Given the description of an element on the screen output the (x, y) to click on. 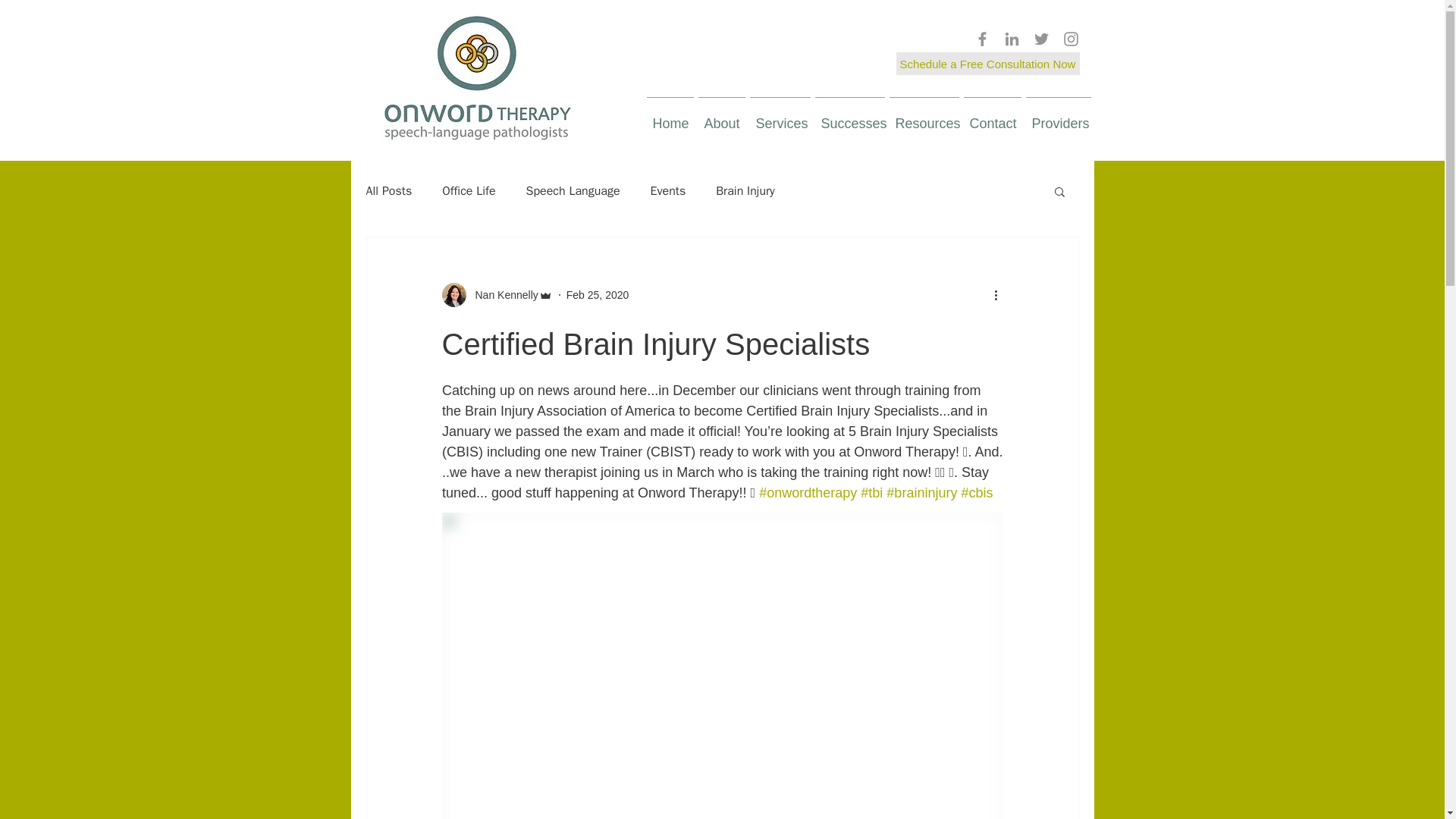
Home (670, 117)
Nan Kennelly (501, 294)
Speech Language (572, 191)
Events (667, 191)
Feb 25, 2020 (597, 294)
Providers (1058, 117)
Brain Injury (745, 191)
Contact (991, 117)
Services (780, 117)
All Posts (388, 191)
About (721, 117)
Resources (923, 117)
Office Life (468, 191)
Successes (849, 117)
Schedule a Free Consultation Now (988, 63)
